Given the description of an element on the screen output the (x, y) to click on. 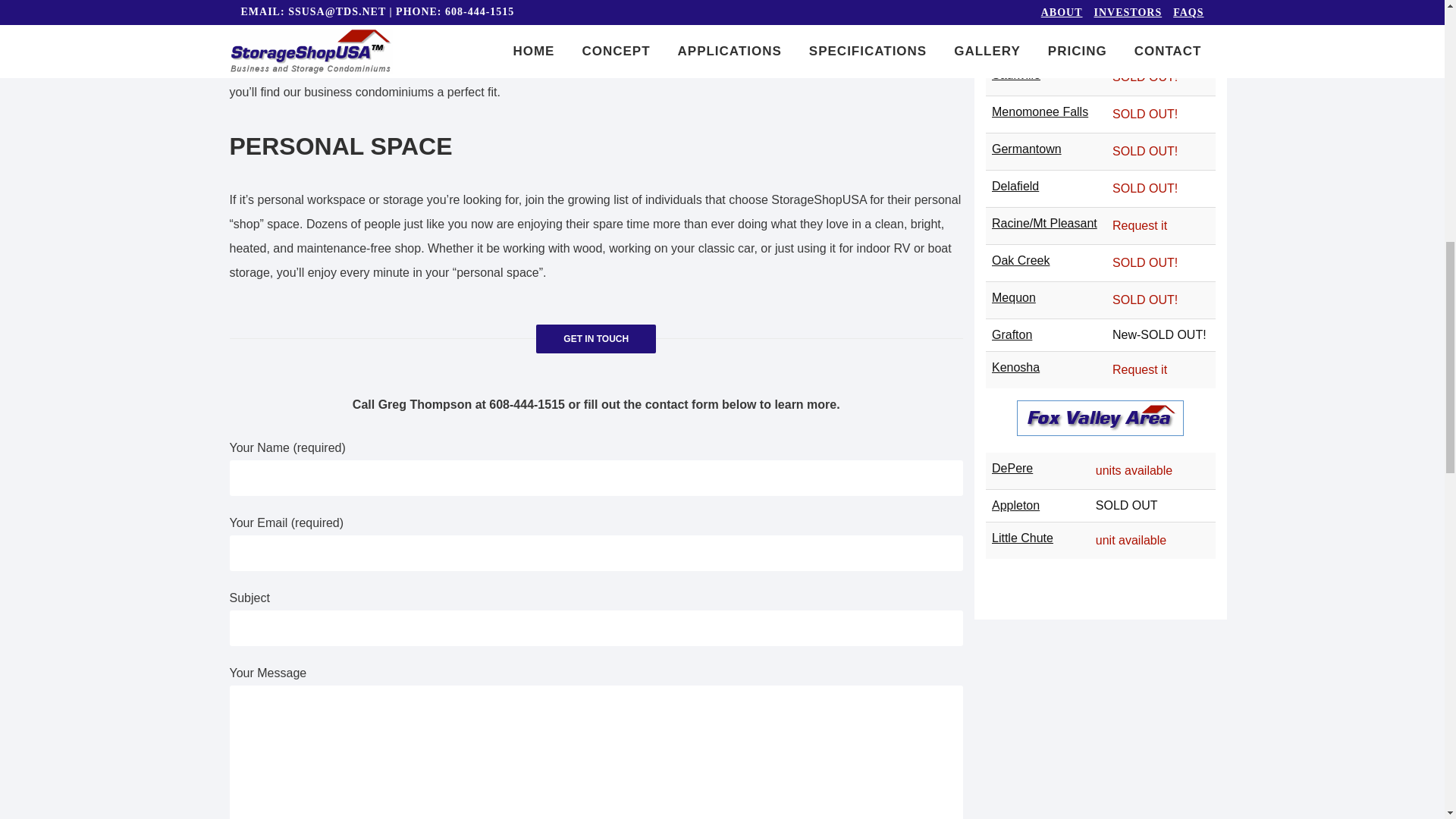
Germantown (1026, 148)
Delafield (1015, 185)
Saukville (1016, 74)
Waukesha (1019, 3)
Menomonee Falls (1039, 111)
Waukesha II (1024, 37)
